Given the description of an element on the screen output the (x, y) to click on. 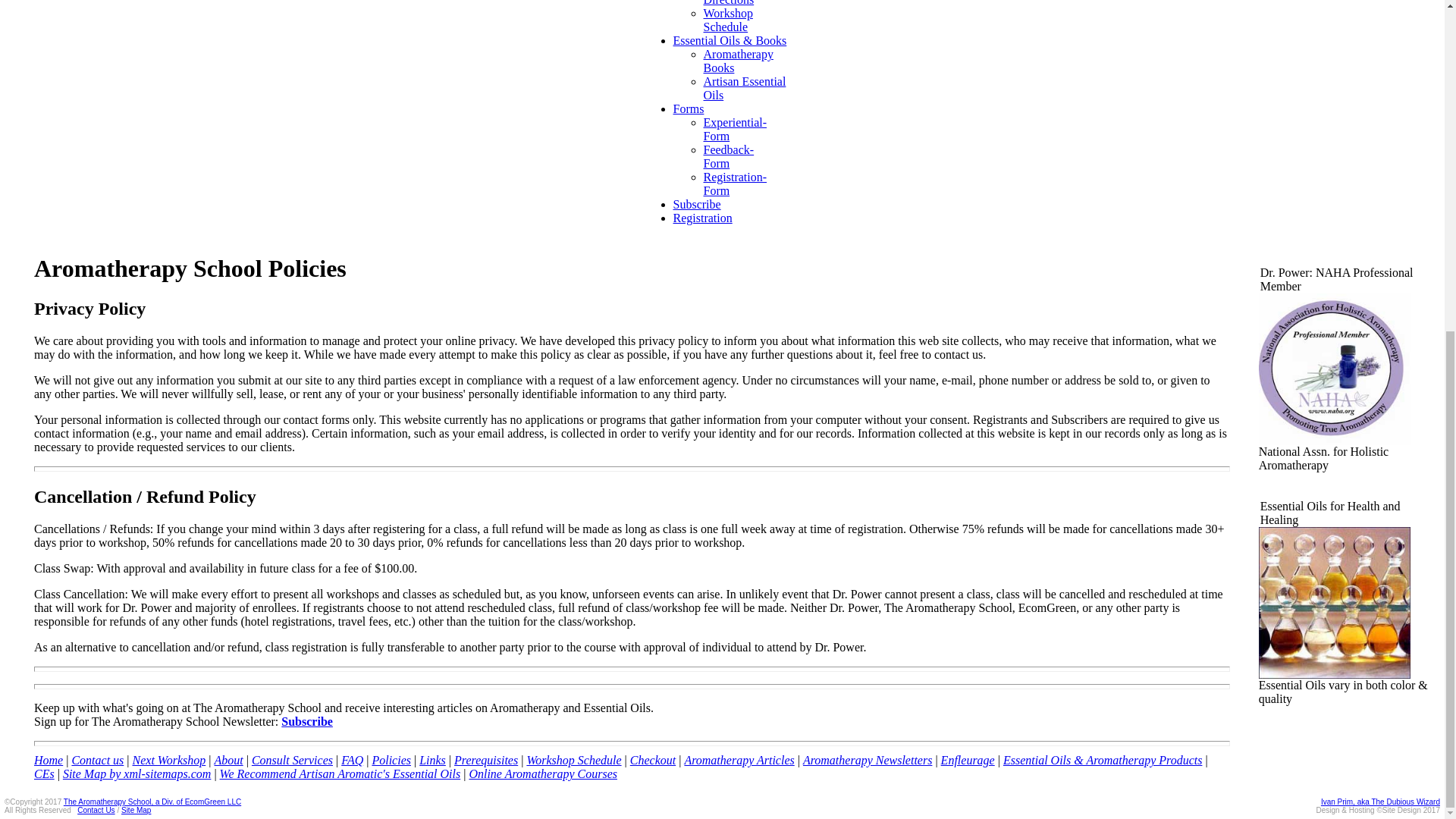
Artisan Essential Oils (744, 88)
Home (47, 759)
Registration-Form (735, 183)
Experiential-Form (735, 129)
Registration (702, 217)
Subscribe (307, 721)
Aromatherapy Books (738, 60)
Contact us (97, 759)
Next Workshop (169, 759)
Workshop Directions (728, 2)
